Given the description of an element on the screen output the (x, y) to click on. 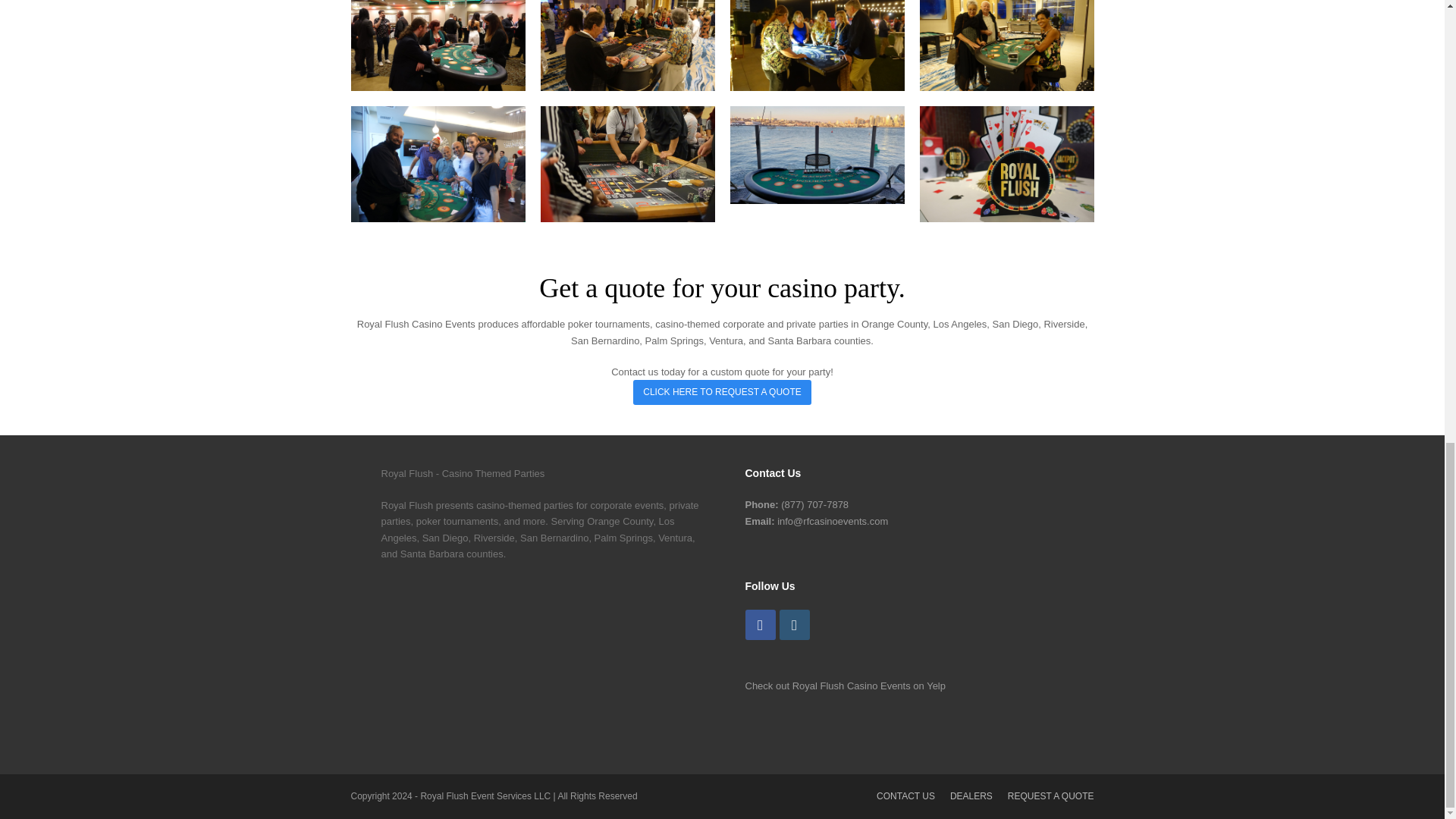
Facebook (759, 624)
Instagram (793, 624)
CLICK HERE TO REQUEST A QUOTE (721, 392)
